Given the description of an element on the screen output the (x, y) to click on. 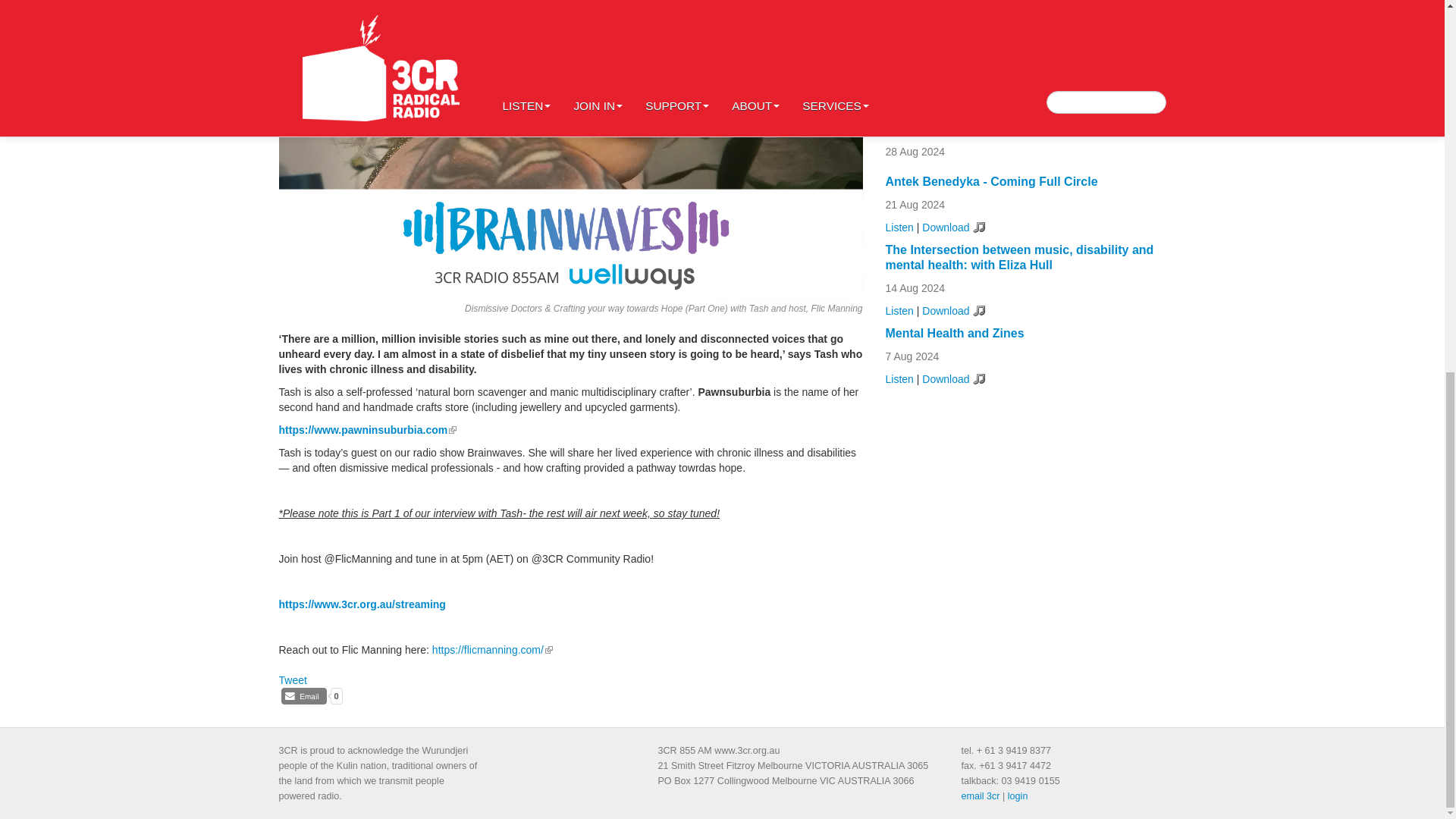
Download mp3 (952, 379)
Download mp3 (952, 227)
Download mp3 (952, 311)
